Given the description of an element on the screen output the (x, y) to click on. 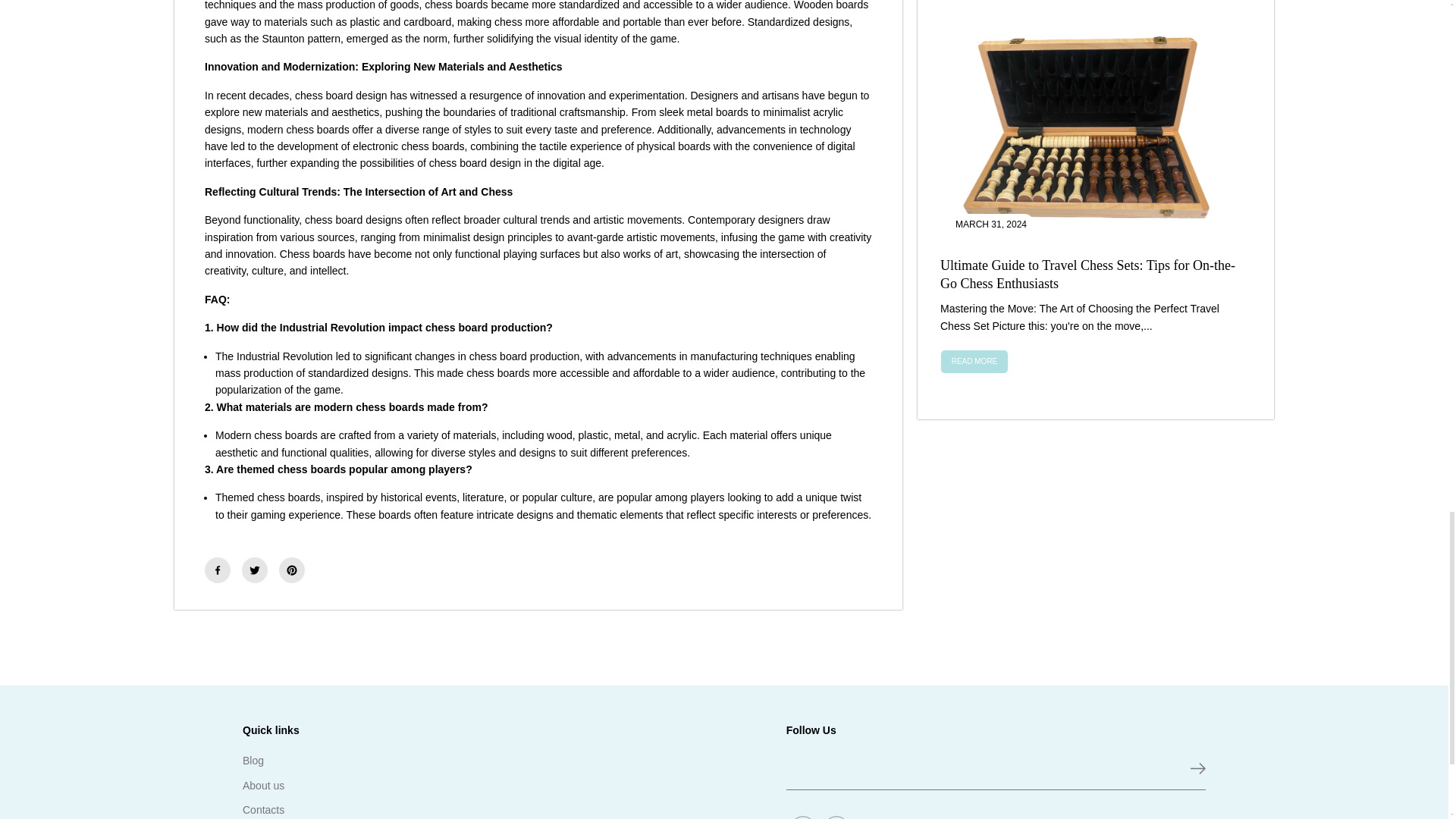
Facebook (217, 570)
Twitter (254, 570)
Pinterest (291, 570)
